Given the description of an element on the screen output the (x, y) to click on. 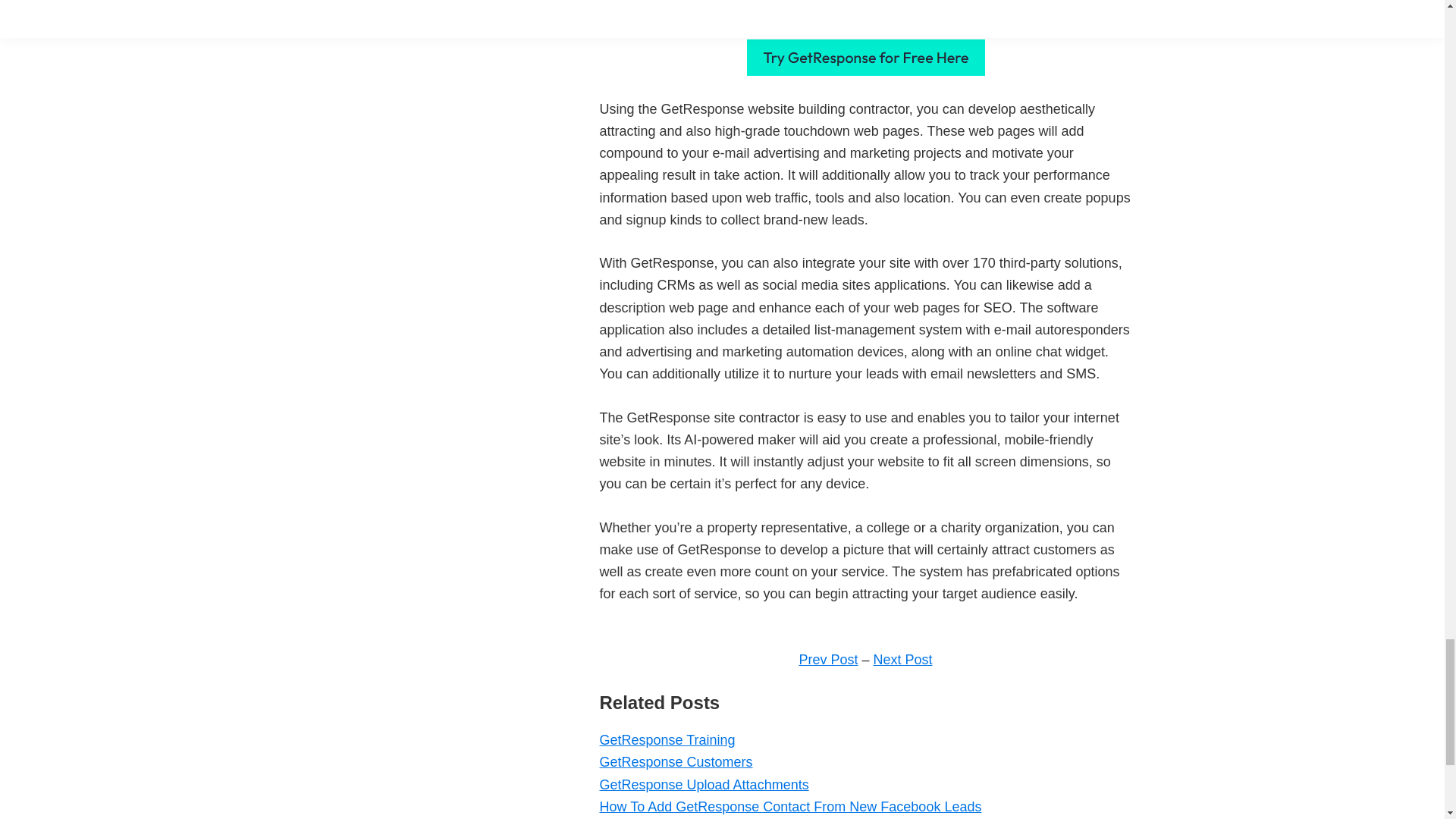
GetResponse Training (666, 739)
GetResponse Upload Attachments (703, 783)
GetResponse Upload Attachments (703, 783)
GetResponse Customers (675, 761)
GetResponse Customers (675, 761)
Prev Post (827, 659)
How To Add GetResponse Contact From New Facebook Leads (789, 806)
Next Post (903, 659)
GetResponse Training (666, 739)
How To Add GetResponse Contact From New Facebook Leads (789, 806)
